Given the description of an element on the screen output the (x, y) to click on. 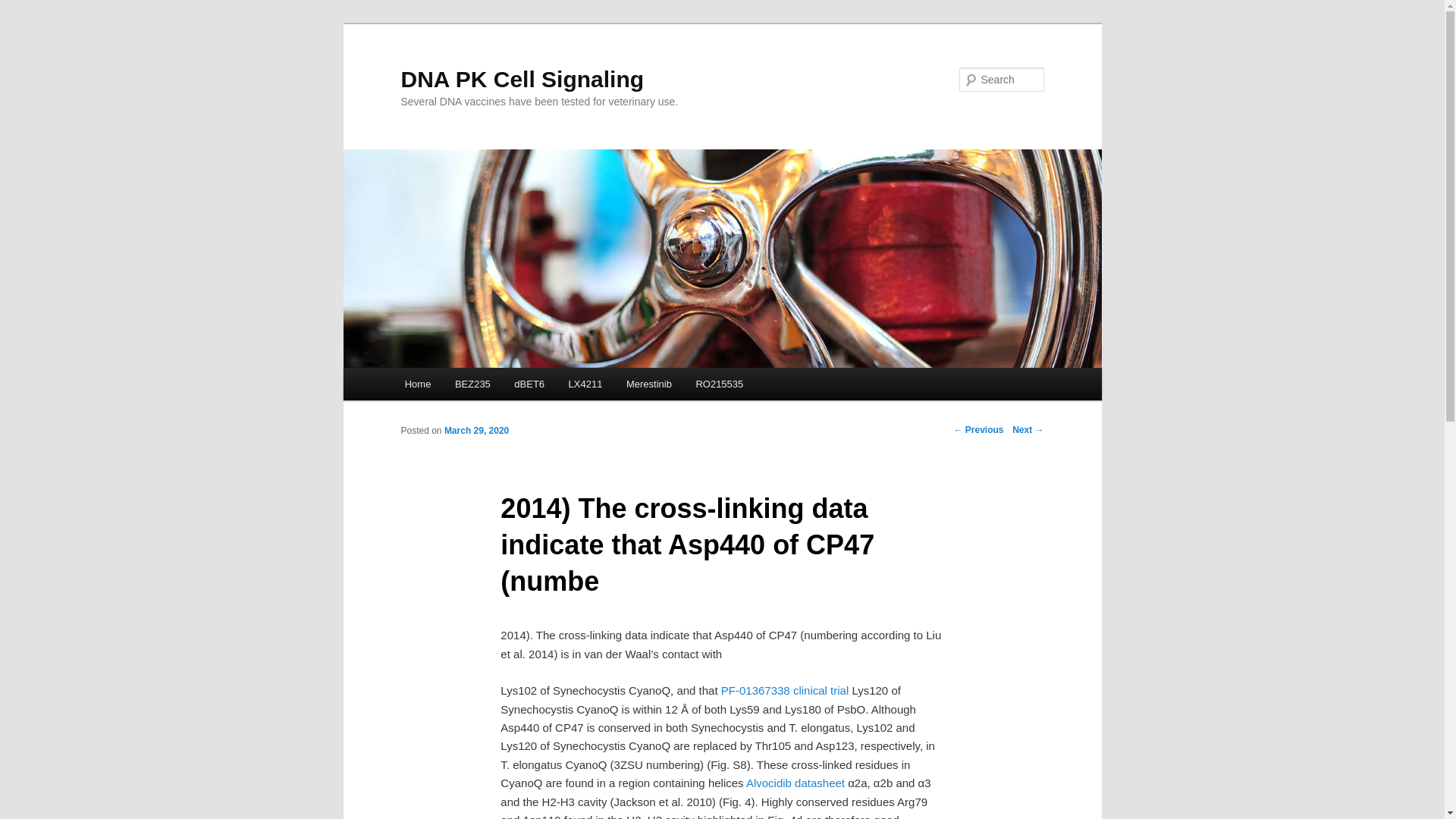
PF-01367338 clinical trial (784, 689)
Skip to secondary content (479, 386)
Merestinib (648, 383)
LX4211 (585, 383)
Skip to primary content (472, 386)
Home (417, 383)
dBET6 (529, 383)
March 29, 2020 (476, 430)
RO215535 (719, 383)
Skip to secondary content (479, 386)
DNA PK Cell Signaling (521, 78)
Search (24, 8)
Alvocidib datasheet (794, 782)
Home (417, 383)
Skip to primary content (472, 386)
